Given the description of an element on the screen output the (x, y) to click on. 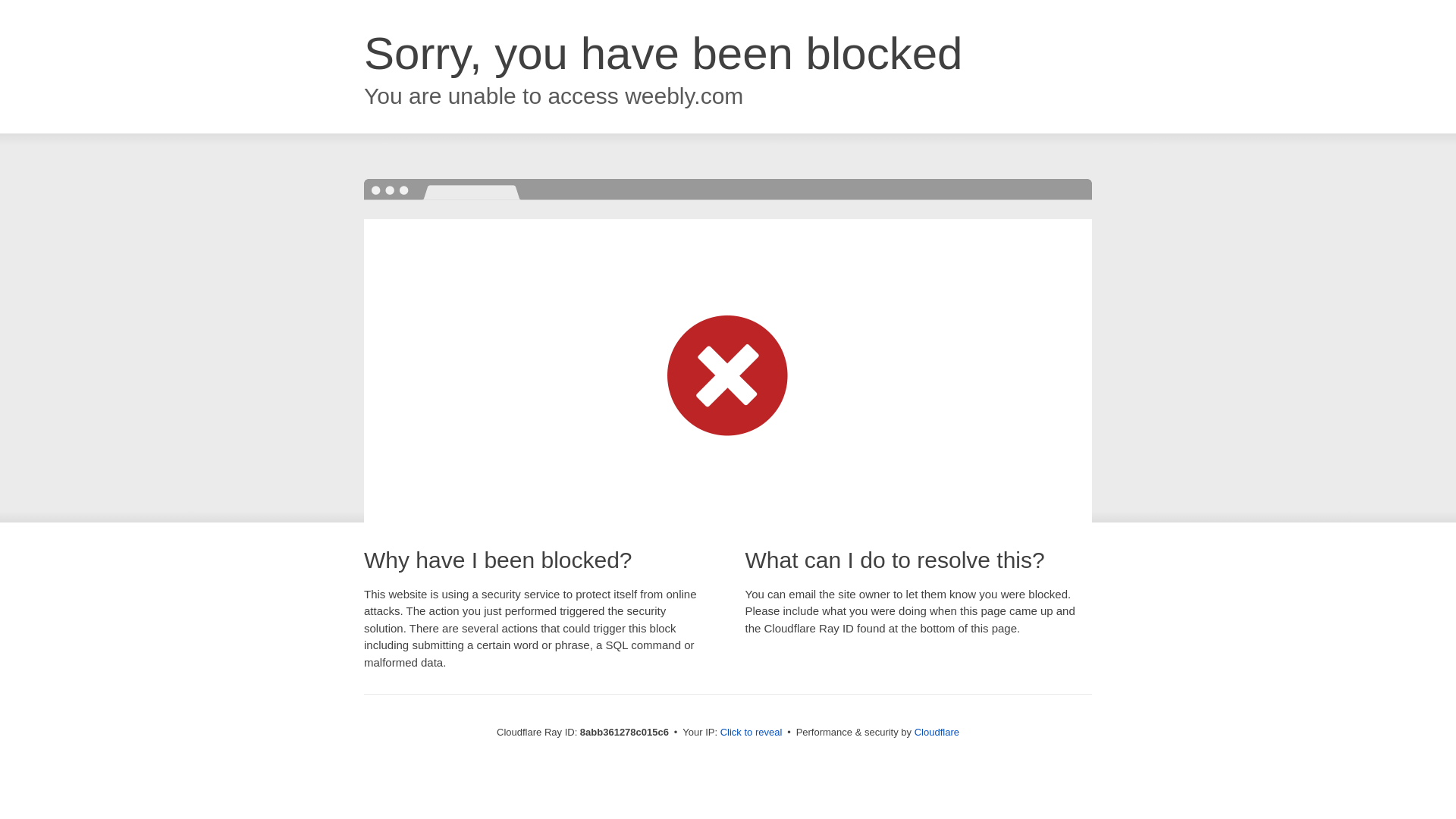
Click to reveal (751, 732)
Cloudflare (936, 731)
